Given the description of an element on the screen output the (x, y) to click on. 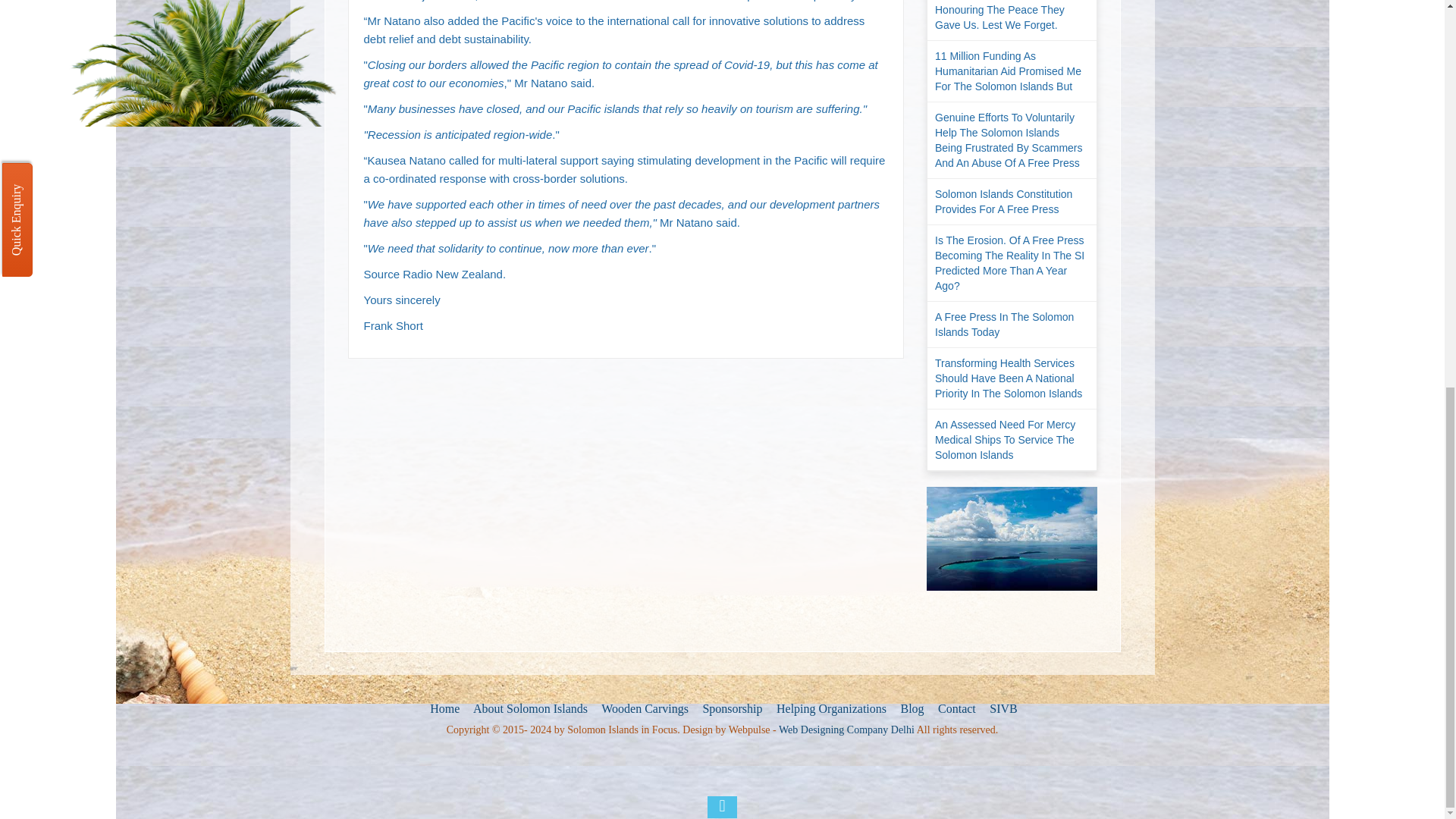
Sponsorship (729, 709)
About Solomon Islands (529, 709)
Wooden Carvings (643, 709)
A Free Press In The Solomon Islands Today (1011, 324)
Solomon Islands Constitution Provides For A Free Press (1011, 201)
Home (443, 709)
